Given the description of an element on the screen output the (x, y) to click on. 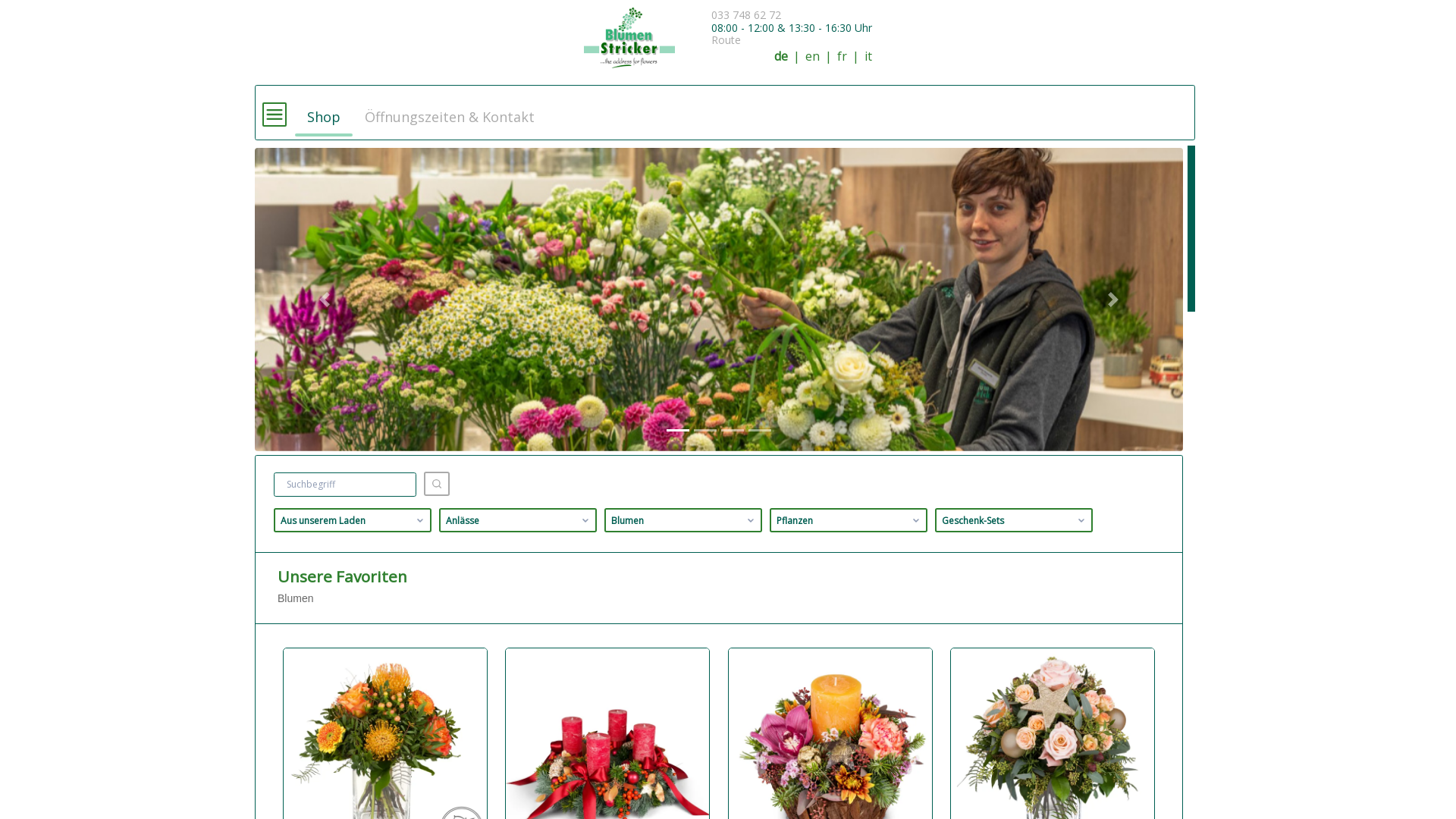
Next Element type: text (1113, 299)
Previous Element type: text (324, 299)
033 748 62 72 Element type: text (746, 14)
Blumen Element type: text (683, 520)
Route Element type: text (725, 39)
Pflanzen Element type: text (848, 520)
Aus unserem Laden Element type: text (352, 520)
Geschenk-Sets Element type: text (1013, 520)
Shop Element type: text (323, 109)
